Given the description of an element on the screen output the (x, y) to click on. 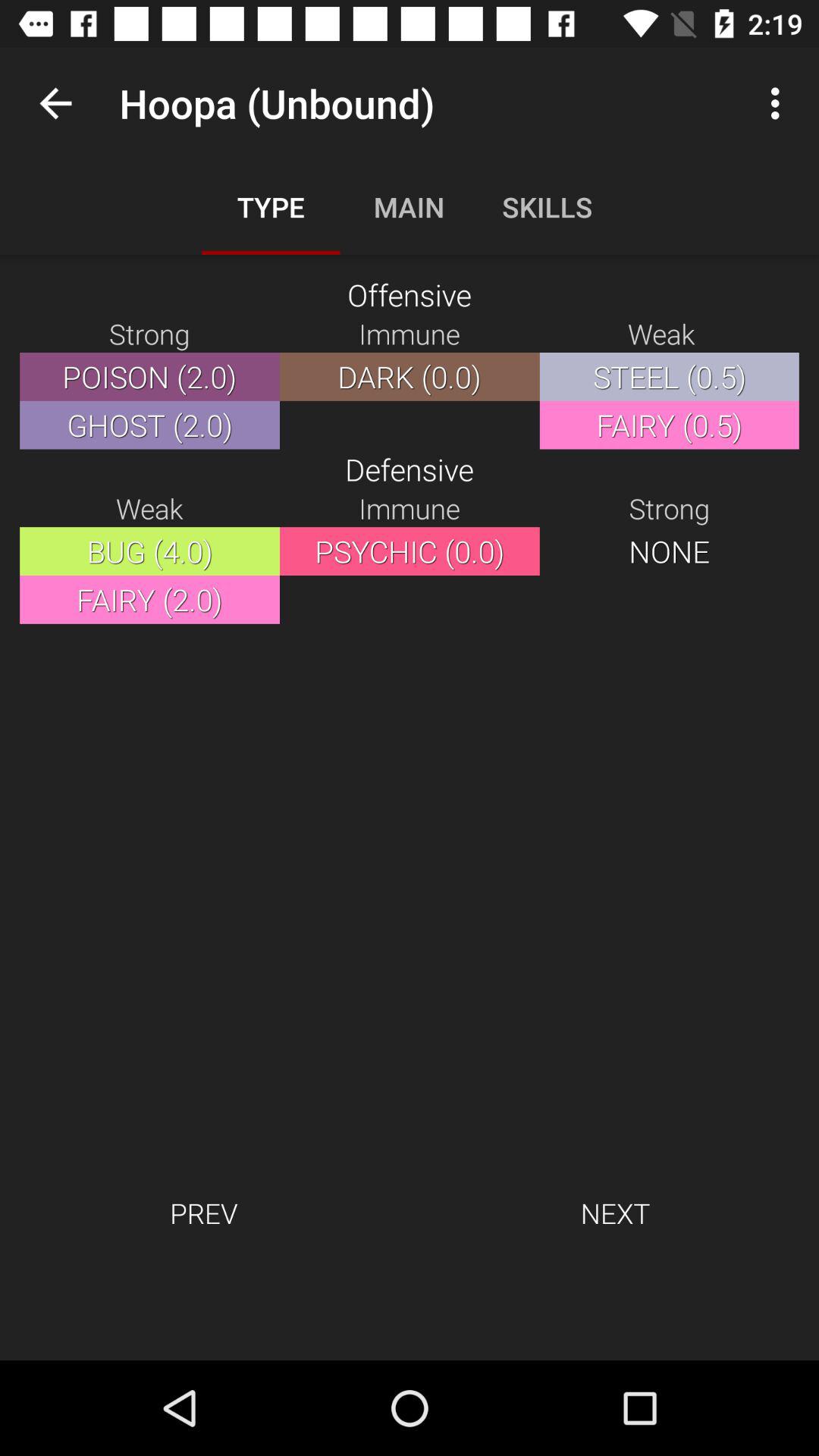
click next (615, 1212)
